Given the description of an element on the screen output the (x, y) to click on. 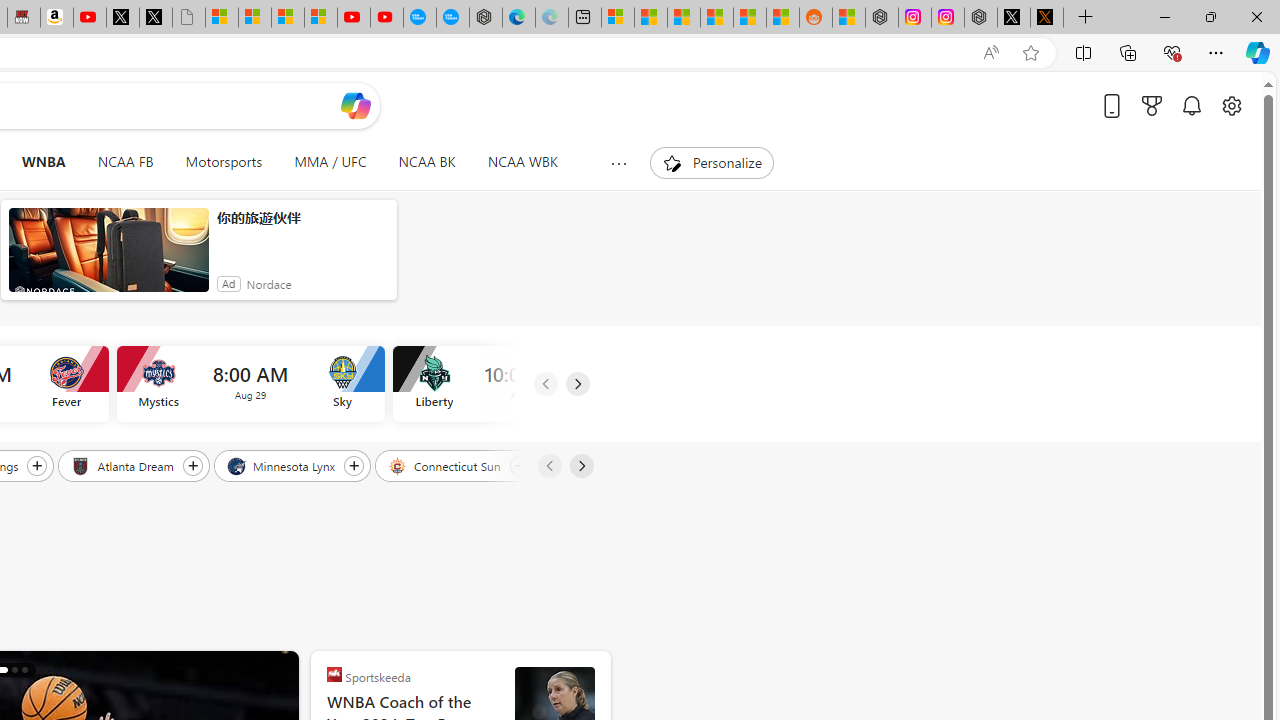
Shanghai, China hourly forecast | Microsoft Weather (684, 17)
NCAA BK (426, 162)
Follow Dallas Wings (37, 465)
Mystics vs Sky Time 8:00 AM Date Aug 29 (250, 383)
Shanghai, China weather forecast | Microsoft Weather (650, 17)
Open settings (1231, 105)
Show more topics (617, 163)
